Given the description of an element on the screen output the (x, y) to click on. 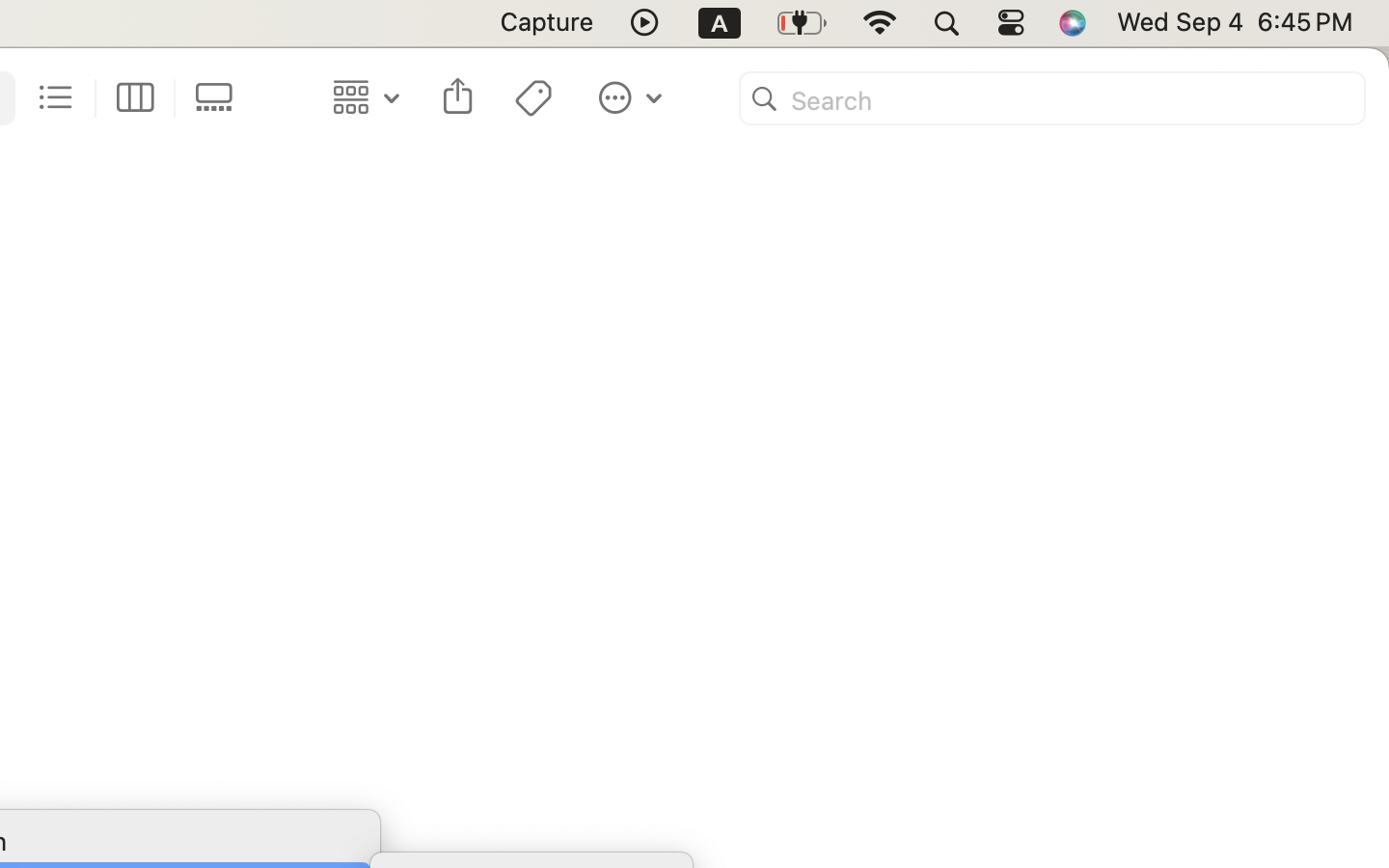
0 Element type: AXRadioButton (219, 97)
